Given the description of an element on the screen output the (x, y) to click on. 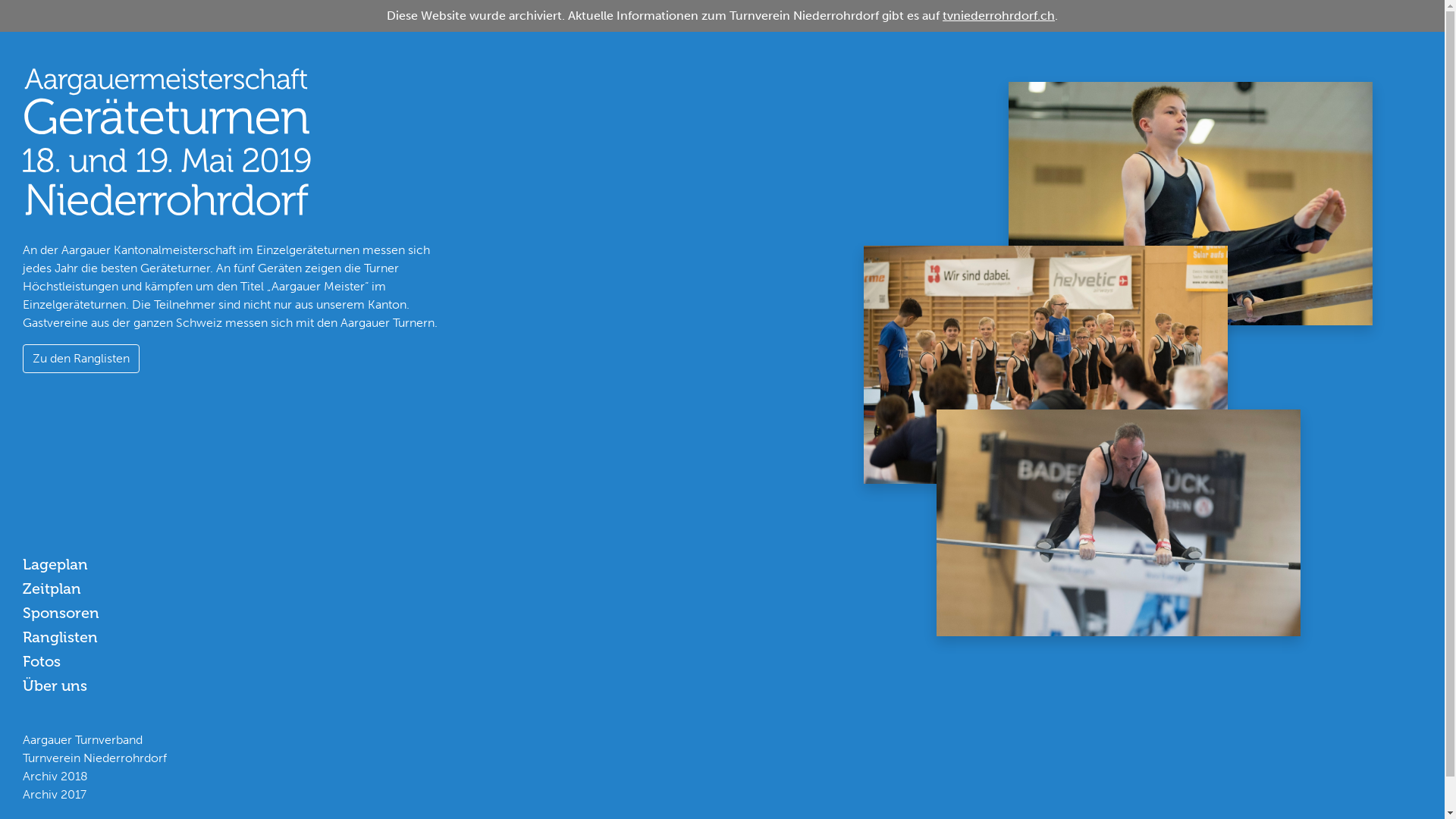
Archiv 2017 Element type: text (54, 794)
Zu den Ranglisten Element type: text (80, 358)
Sponsoren Element type: text (60, 612)
Fotos Element type: text (41, 661)
Turnverein Niederrohrdorf Element type: text (94, 757)
tvniederrohrdorf.ch Element type: text (998, 15)
Archiv 2018 Element type: text (54, 775)
Lageplan Element type: text (54, 564)
Aargauer Turnverband Element type: text (82, 739)
Ranglisten Element type: text (59, 636)
Zeitplan Element type: text (51, 588)
